Given the description of an element on the screen output the (x, y) to click on. 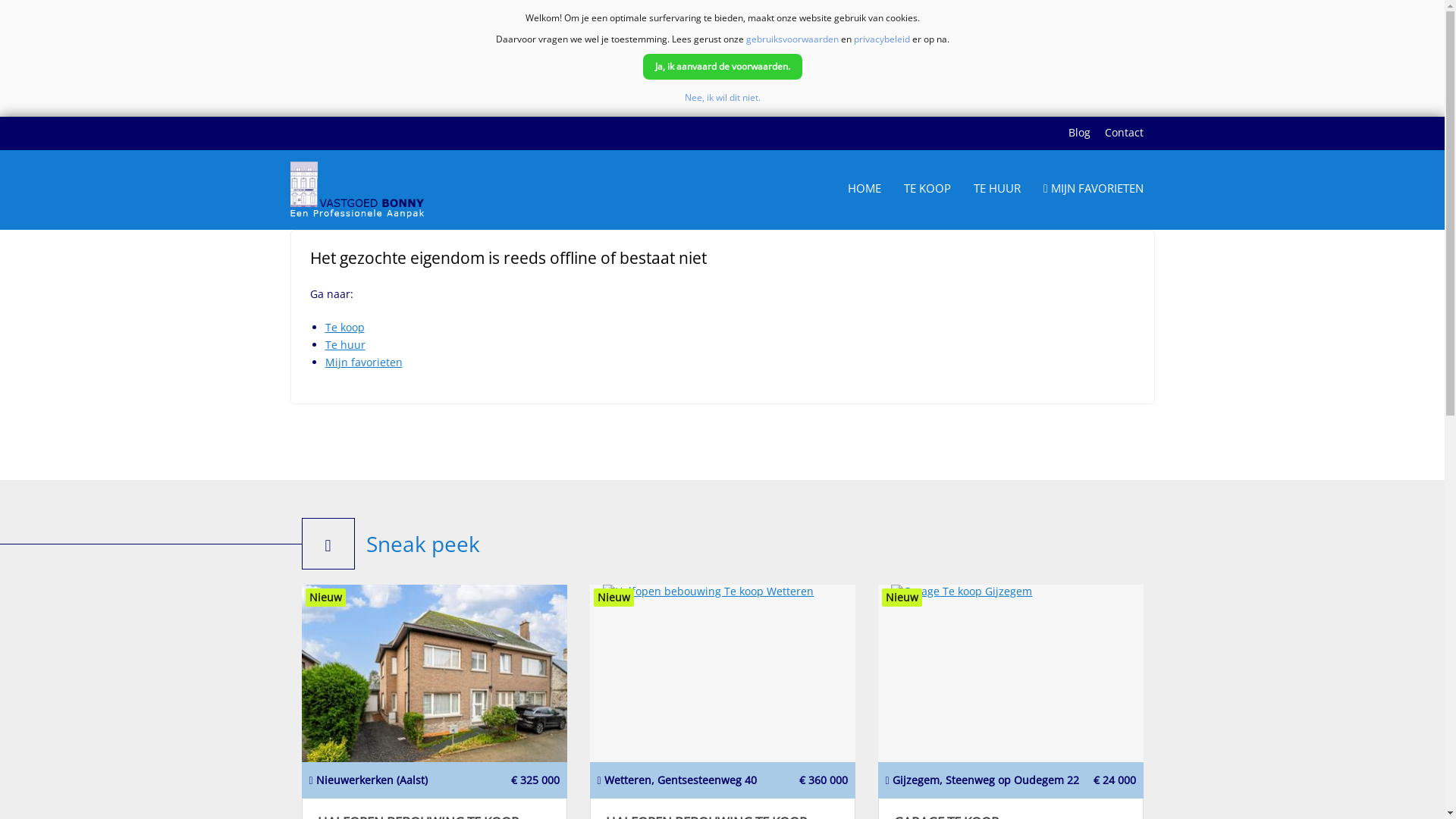
Te koop Element type: text (344, 327)
Nee, ik wil dit niet. Element type: text (721, 97)
HOME Element type: text (864, 189)
Nieuw Element type: text (434, 675)
MIJN FAVORIETEN Element type: text (1093, 189)
privacybeleid Element type: text (881, 38)
gebruiksvoorwaarden Element type: text (792, 38)
Blog Element type: text (1078, 133)
Ja, ik aanvaard de voorwaarden. Element type: text (722, 66)
Contact Element type: text (1123, 133)
TE KOOP Element type: text (927, 189)
TE HUUR Element type: text (997, 189)
Nieuw Element type: text (1010, 675)
Te huur Element type: text (344, 344)
Mijn favorieten Element type: text (362, 361)
Nieuw Element type: text (722, 675)
